Given the description of an element on the screen output the (x, y) to click on. 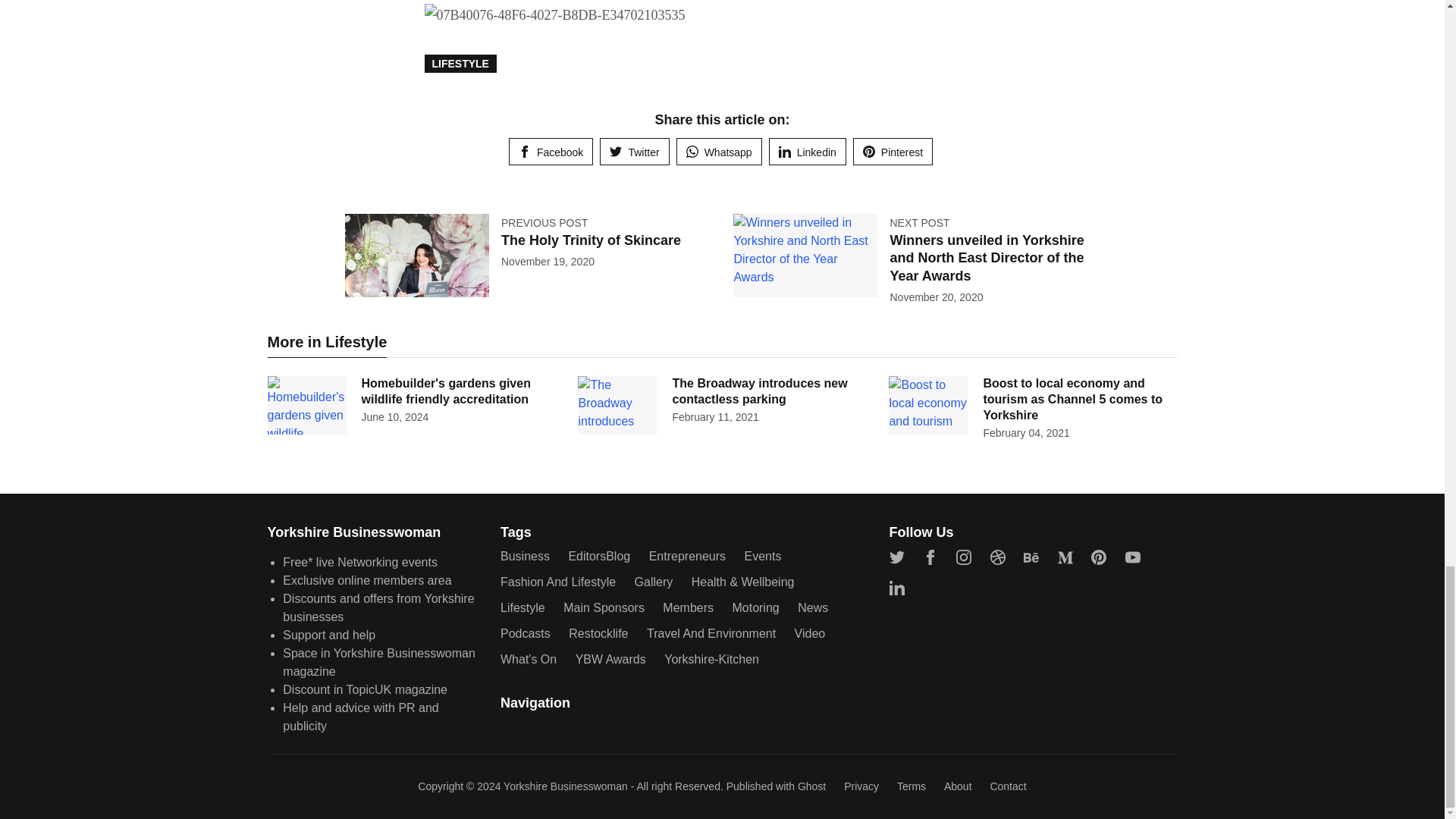
19 November, 2020 (547, 261)
PREVIOUS POST (544, 223)
Linkedin (806, 151)
Homebuilder's gardens given wildlife friendly accreditation (445, 390)
20 November, 2020 (935, 297)
Pinterest (893, 151)
Share on Whatsapp (719, 151)
Share on Facebook (550, 151)
Facebook (550, 151)
